Given the description of an element on the screen output the (x, y) to click on. 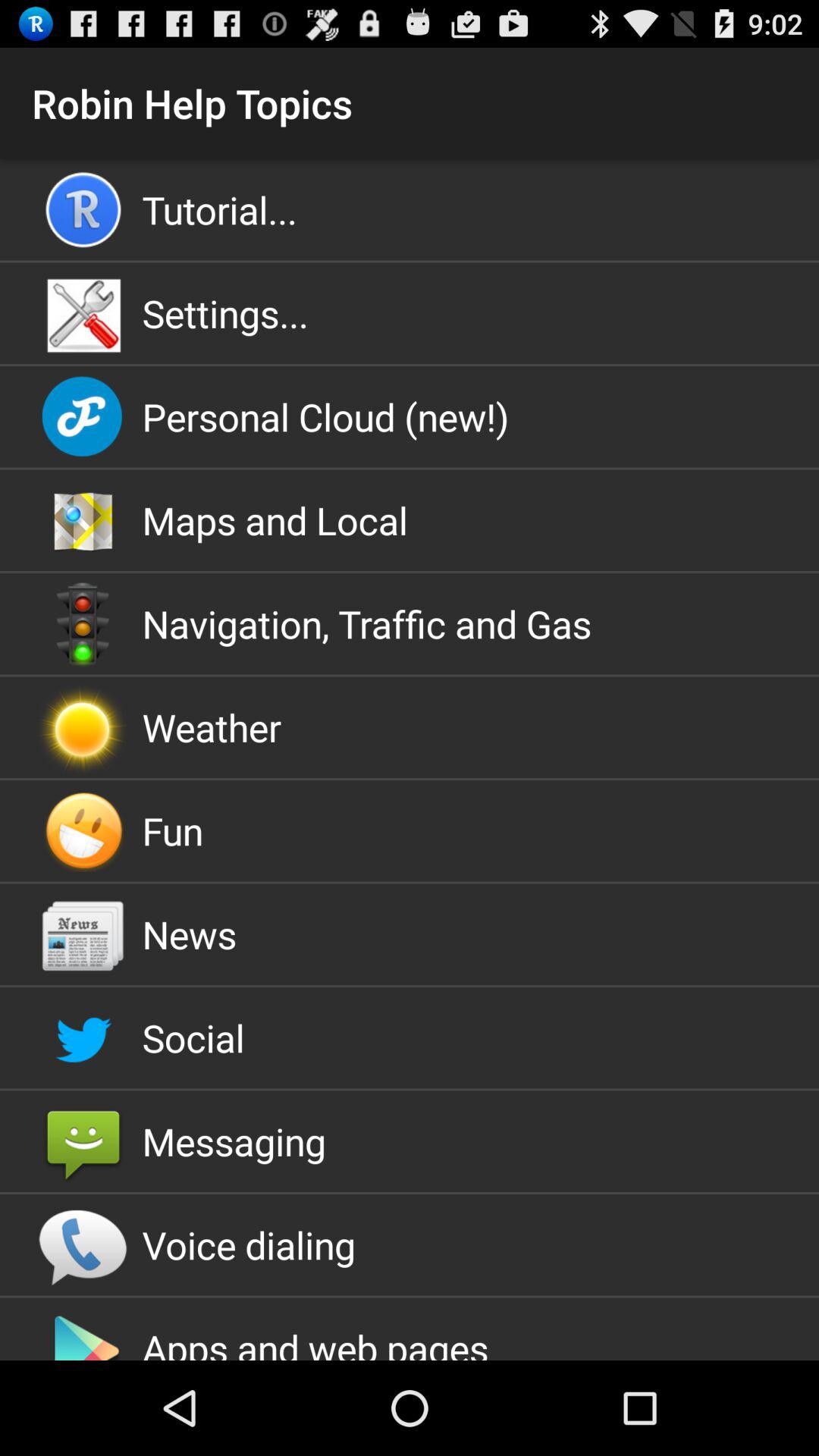
turn off the app below the  fun item (409, 934)
